Given the description of an element on the screen output the (x, y) to click on. 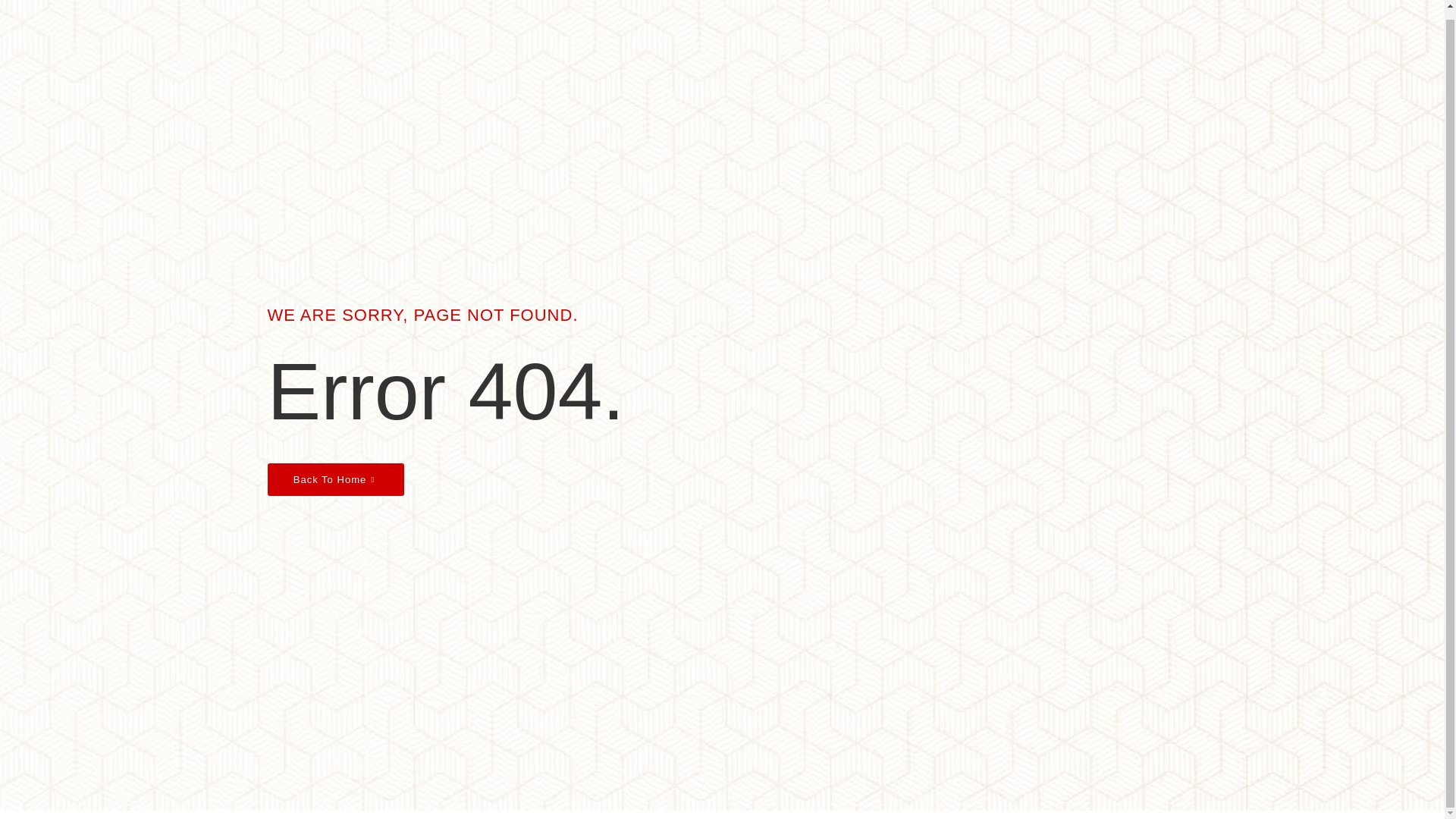
Back To Home (334, 479)
Back To Home (334, 479)
